Given the description of an element on the screen output the (x, y) to click on. 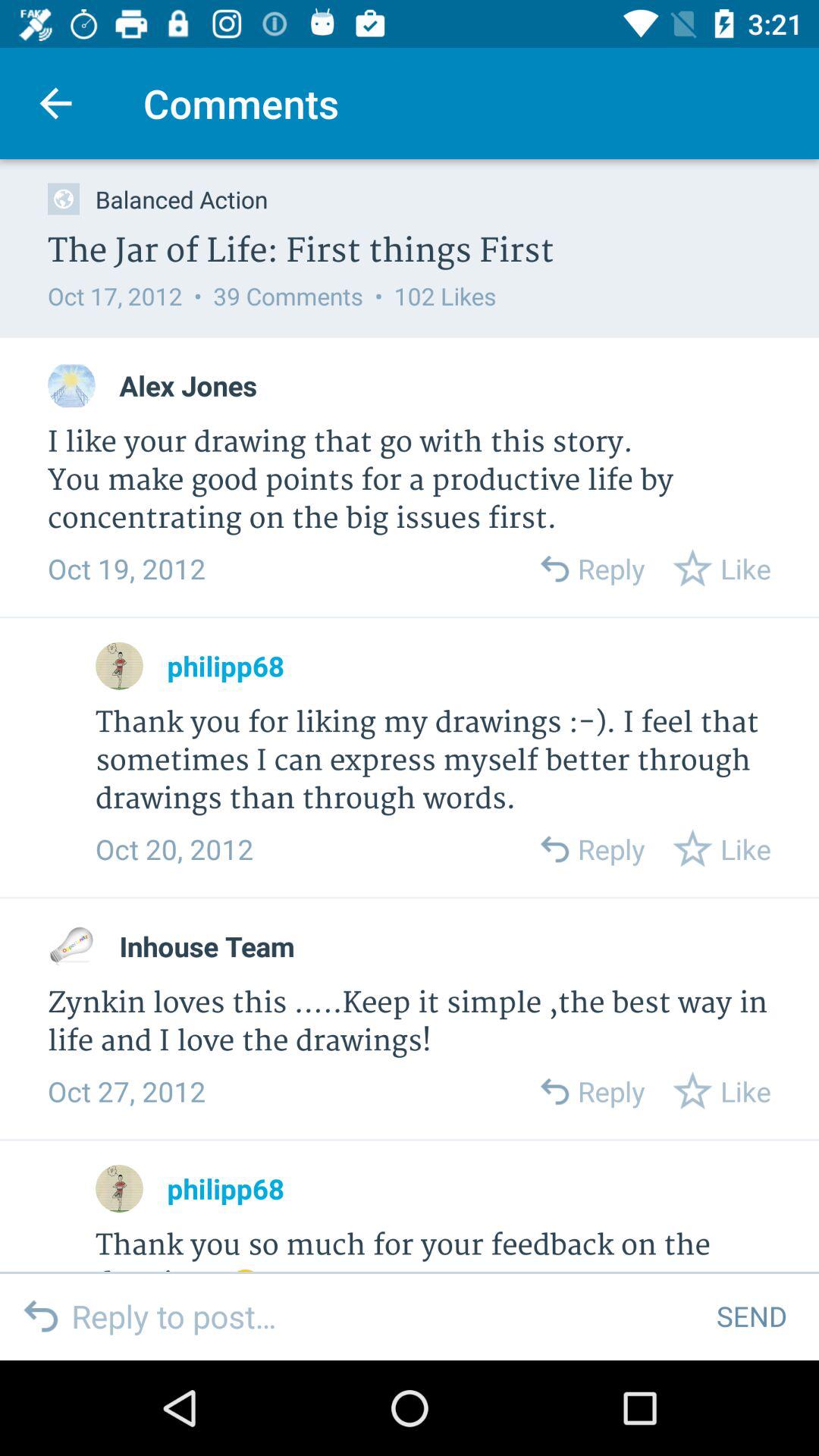
go to previous (553, 849)
